Given the description of an element on the screen output the (x, y) to click on. 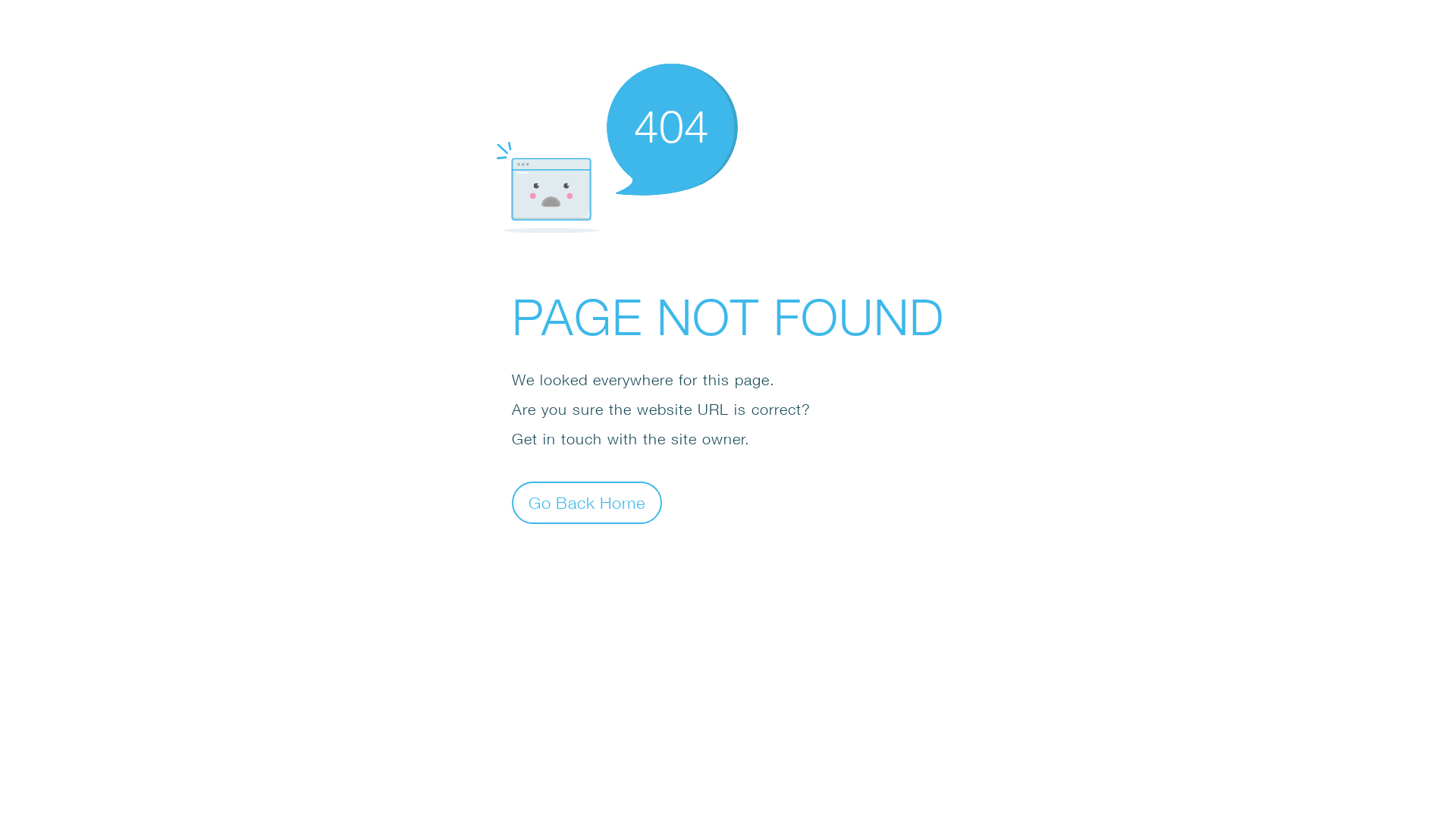
Go Back Home Element type: text (586, 502)
